Given the description of an element on the screen output the (x, y) to click on. 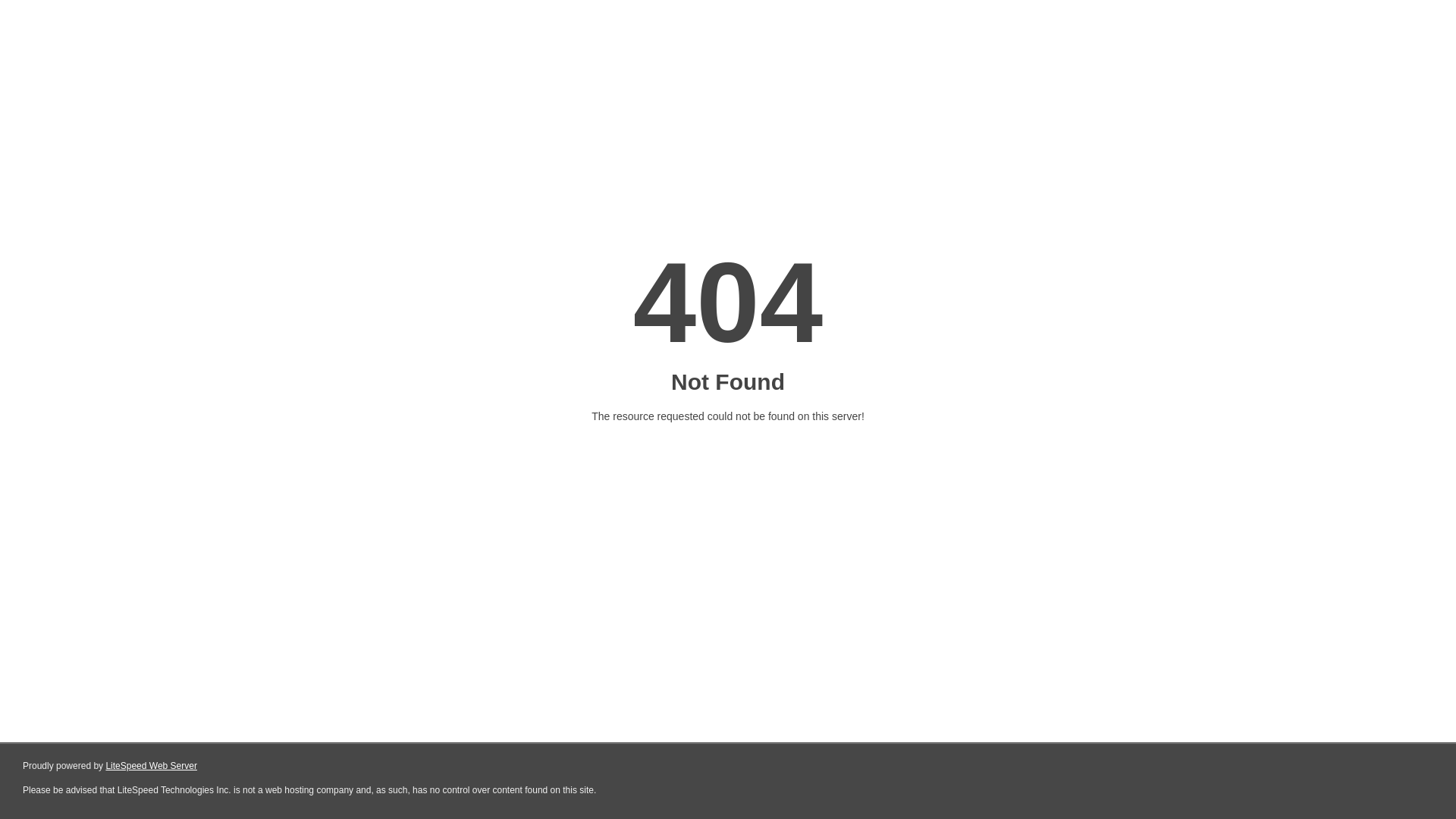
LiteSpeed Web Server Element type: text (151, 765)
